Given the description of an element on the screen output the (x, y) to click on. 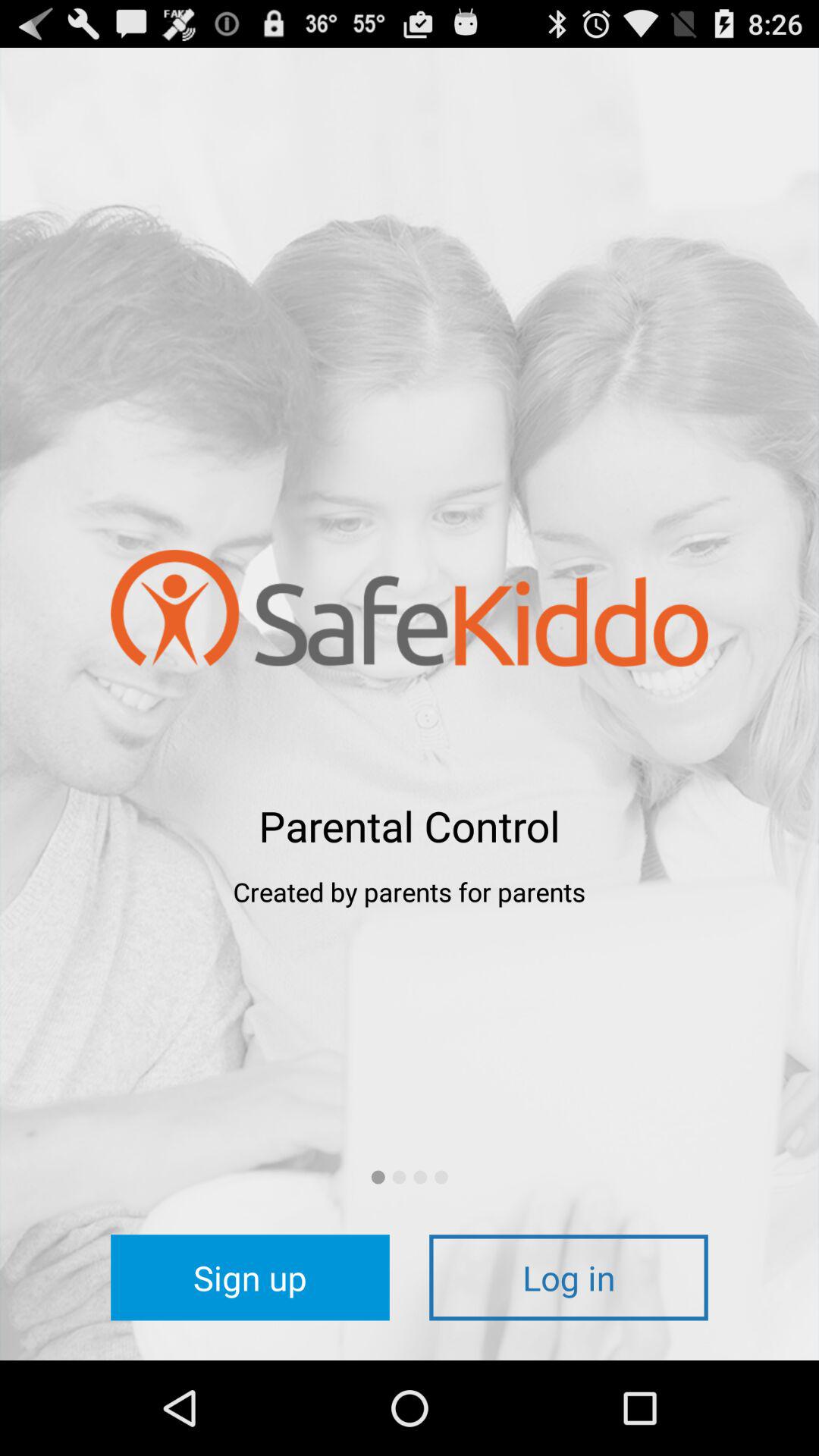
turn on icon at the bottom left corner (249, 1277)
